Given the description of an element on the screen output the (x, y) to click on. 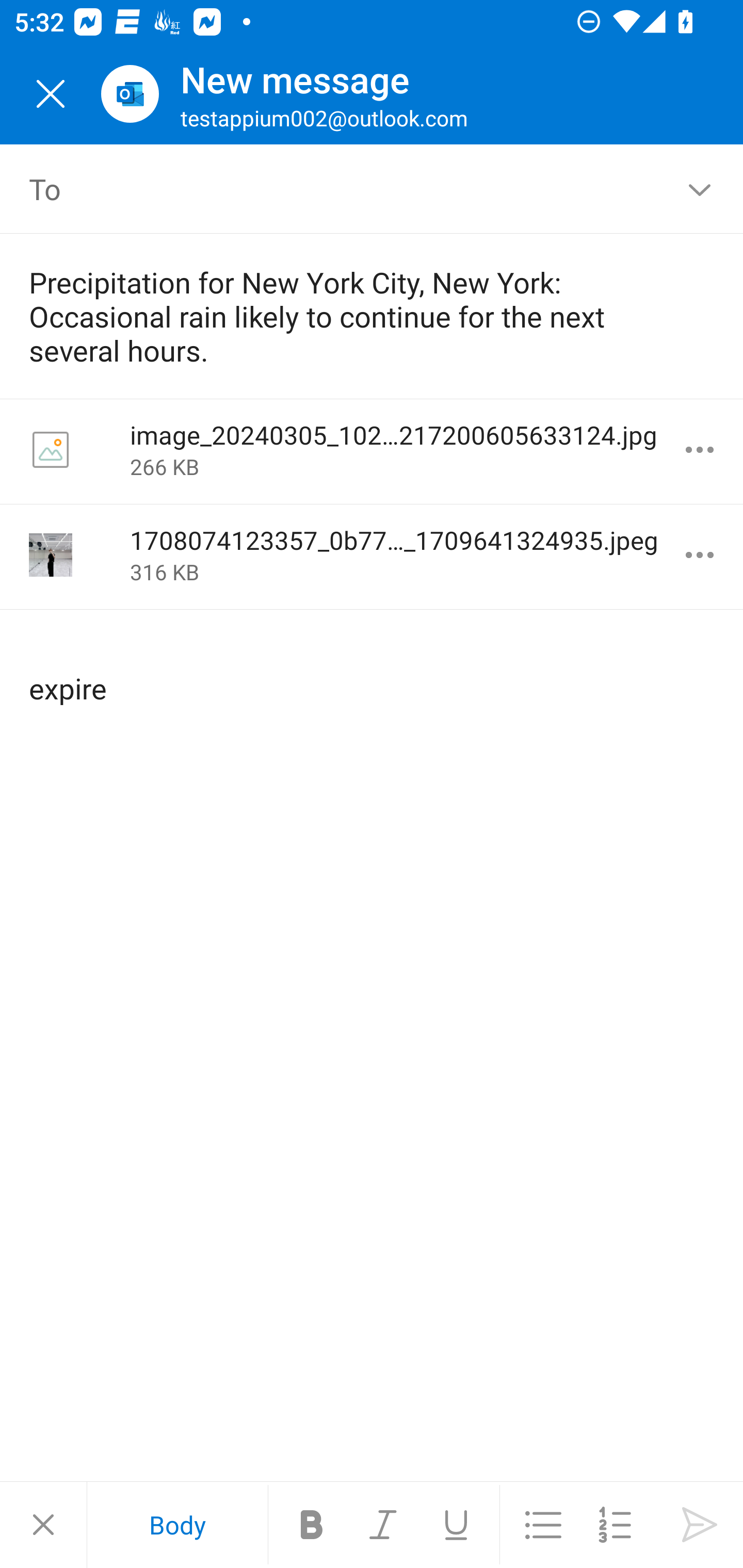
Close (50, 93)
More options (699, 449)
More options (699, 554)

expire (372, 671)
Close (43, 1524)
Send (699, 1524)
Font style button body Body (176, 1524)
Bold (311, 1524)
Italics (384, 1524)
Underline (456, 1524)
Bulleted list (543, 1524)
Numbered list (615, 1524)
